Given the description of an element on the screen output the (x, y) to click on. 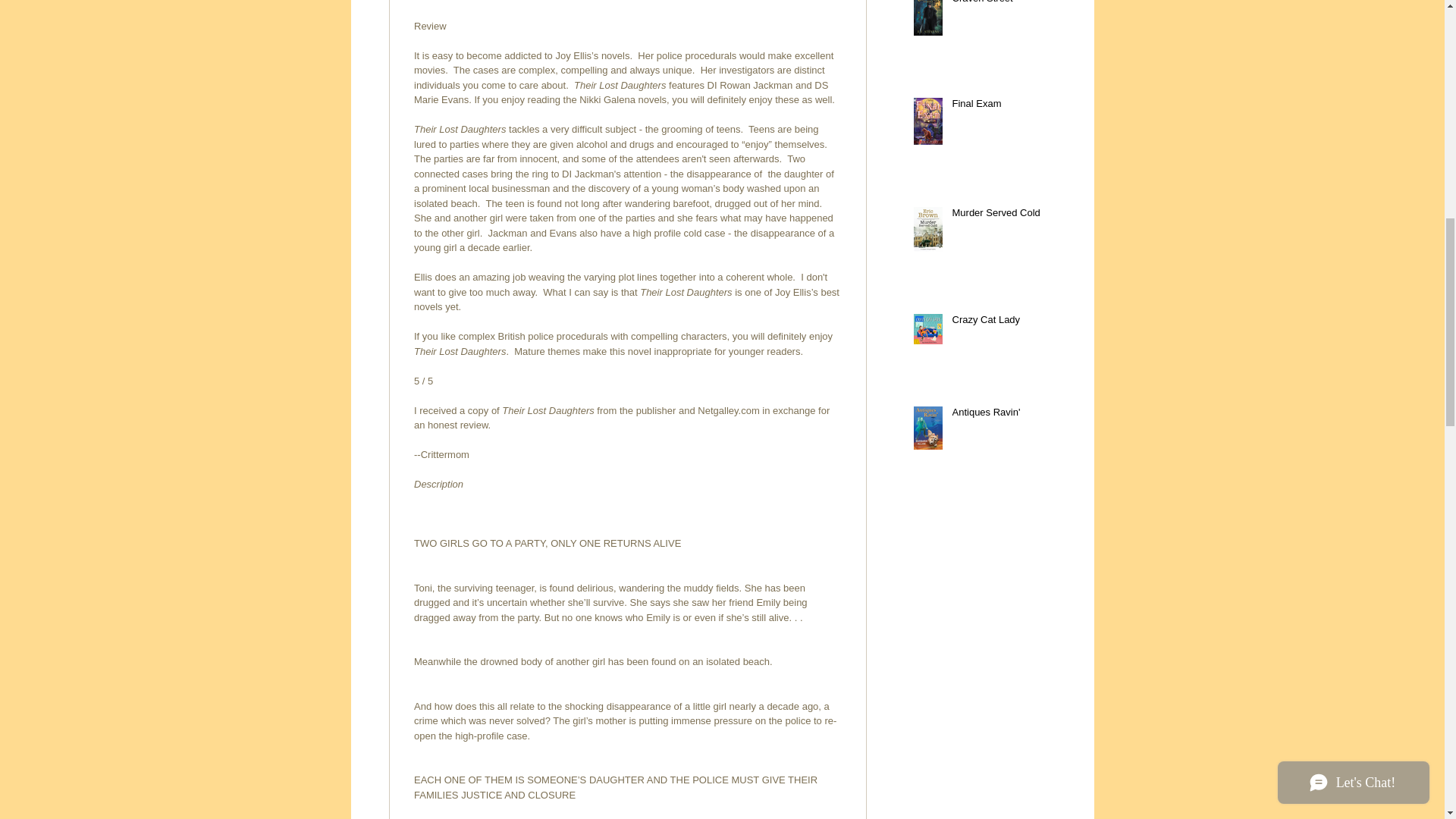
Craven Street (1006, 5)
Antiques Ravin' (1006, 415)
Crazy Cat Lady (1006, 322)
Final Exam (1006, 107)
Murder Served Cold (1006, 216)
